Given the description of an element on the screen output the (x, y) to click on. 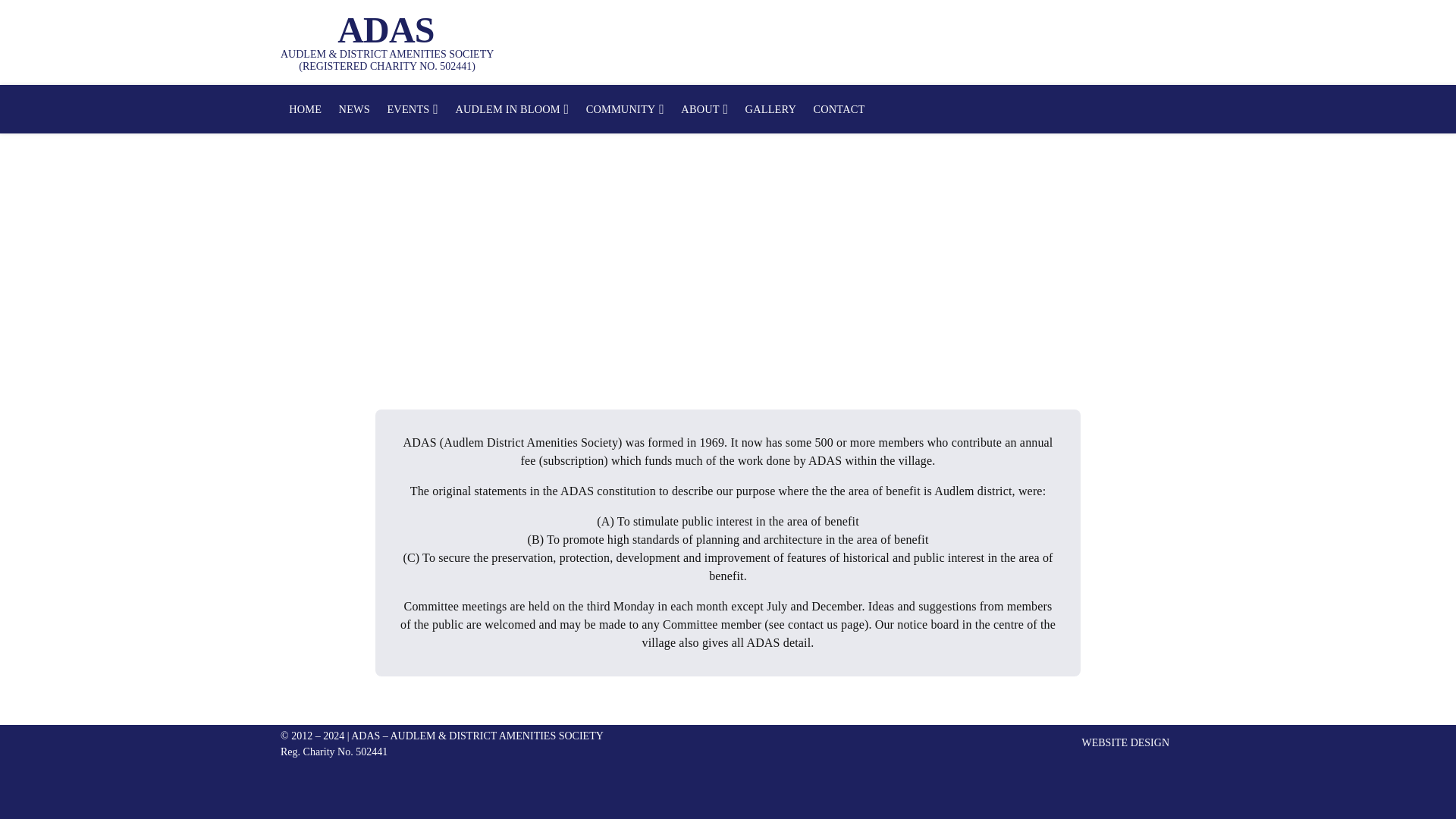
HOME (305, 109)
COMMUNITY (624, 109)
AUDLEM IN BLOOM (511, 109)
NEWS (354, 109)
ABOUT (704, 109)
GALLERY (770, 109)
EVENTS (412, 109)
CONTACT (838, 109)
